Given the description of an element on the screen output the (x, y) to click on. 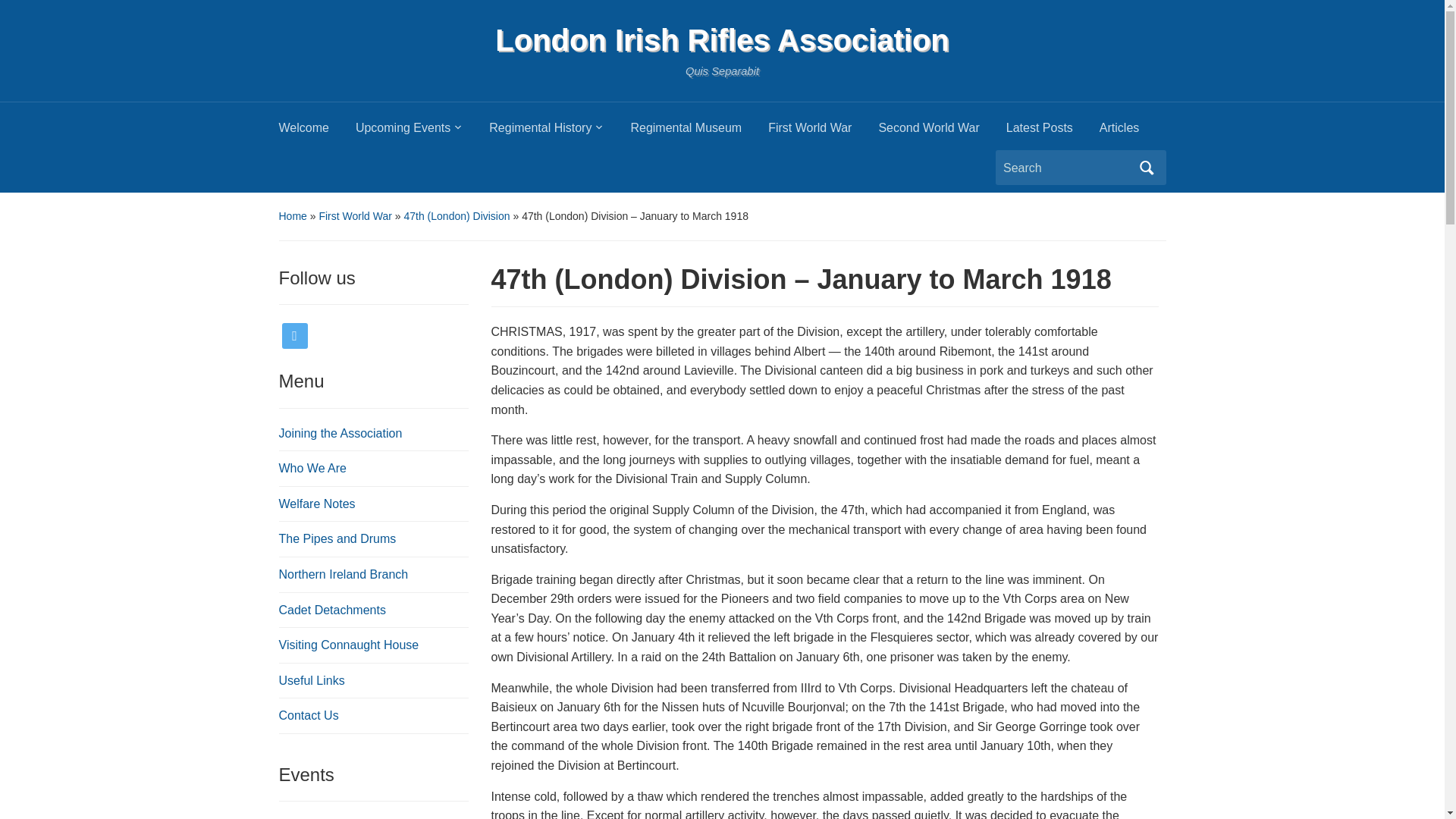
Visiting Connaught House (349, 644)
Northern Ireland Branch (344, 574)
Regimental History (559, 131)
Welcome (317, 131)
London Irish Rifles Association (722, 39)
First World War (822, 131)
Welfare Notes (317, 503)
Regimental Museum (699, 131)
Who We Are (313, 468)
Upcoming Events (422, 131)
